Given the description of an element on the screen output the (x, y) to click on. 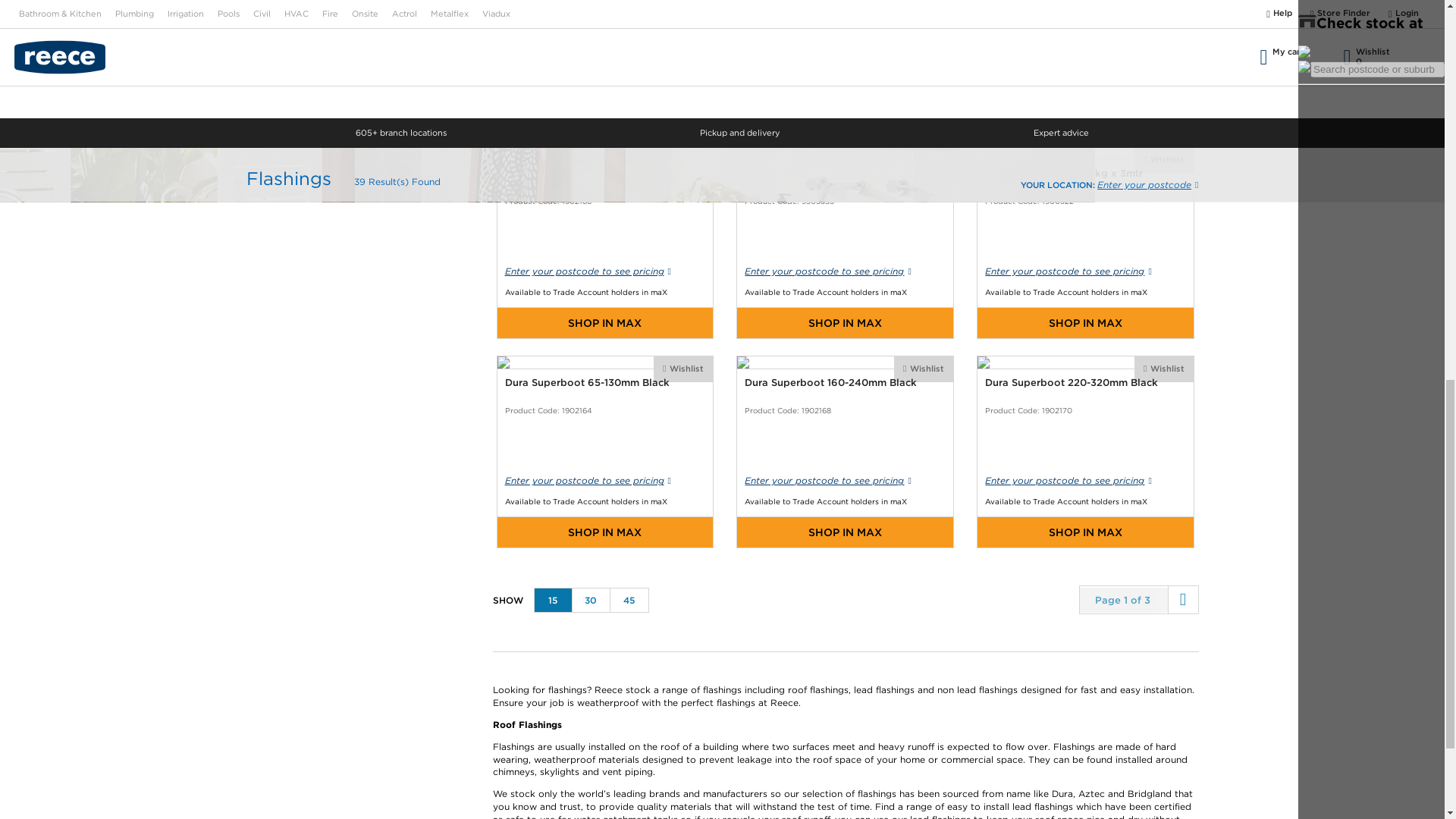
Dura Superboot 100-170mm Black (604, 242)
Dura Superboot Retro Clip Strip (844, 64)
Dura Superboot 65-130mm Black (604, 451)
Dura Superboot 220-320mm Black (1084, 451)
Dura Superboot 160-240mm Black (844, 451)
Dura Boot Roof Flashing 121-254mm EPDM (844, 242)
Dura Boot Roof Flashing 5-55mm Solar     EPDM (604, 64)
Dura Boot Roof Flashing 160-300mm EPDM (1084, 64)
Acryflash 300mm x 15kg x 3mtr (1084, 242)
